Given the description of an element on the screen output the (x, y) to click on. 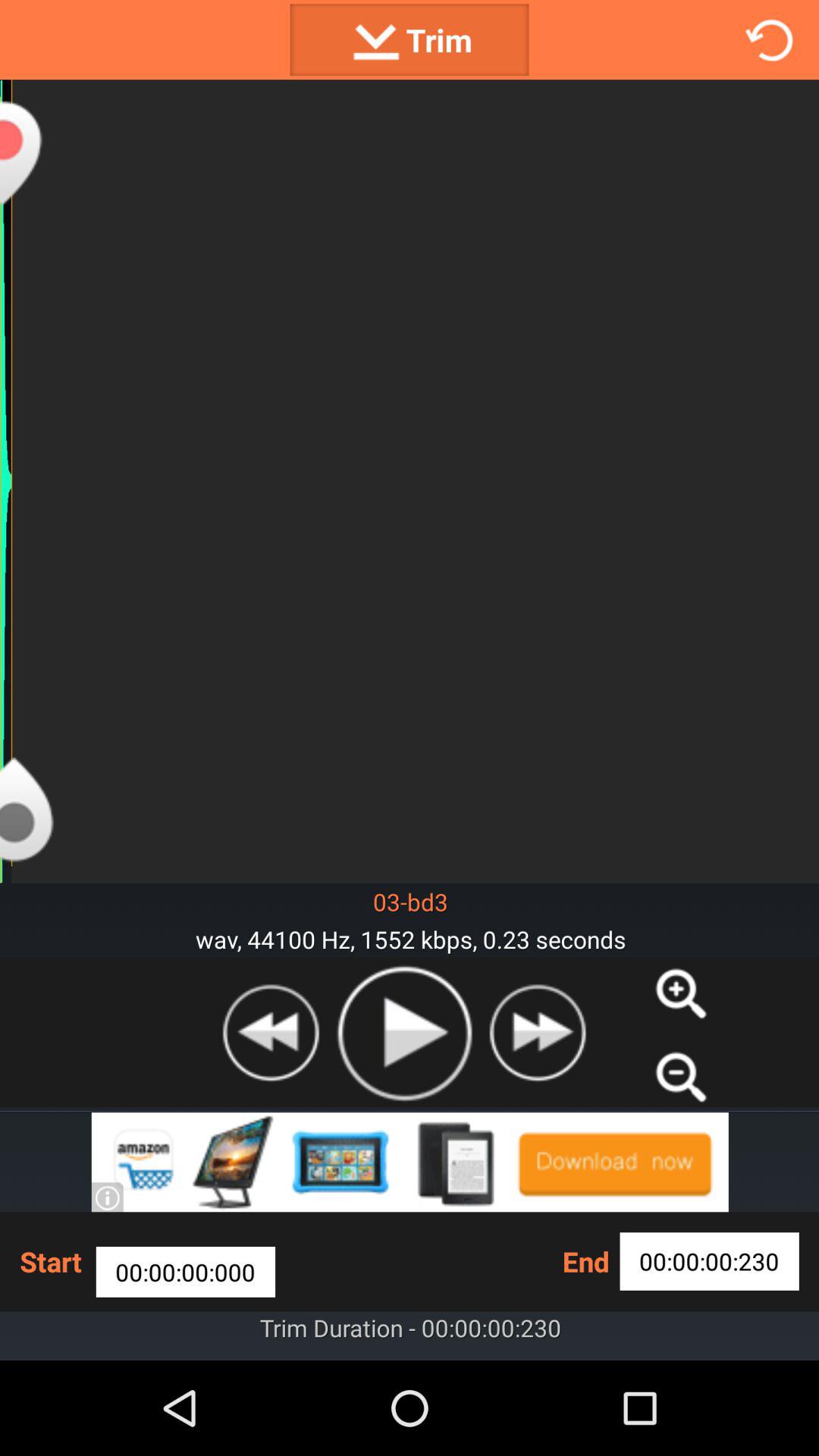
zoom in icon (680, 993)
